Given the description of an element on the screen output the (x, y) to click on. 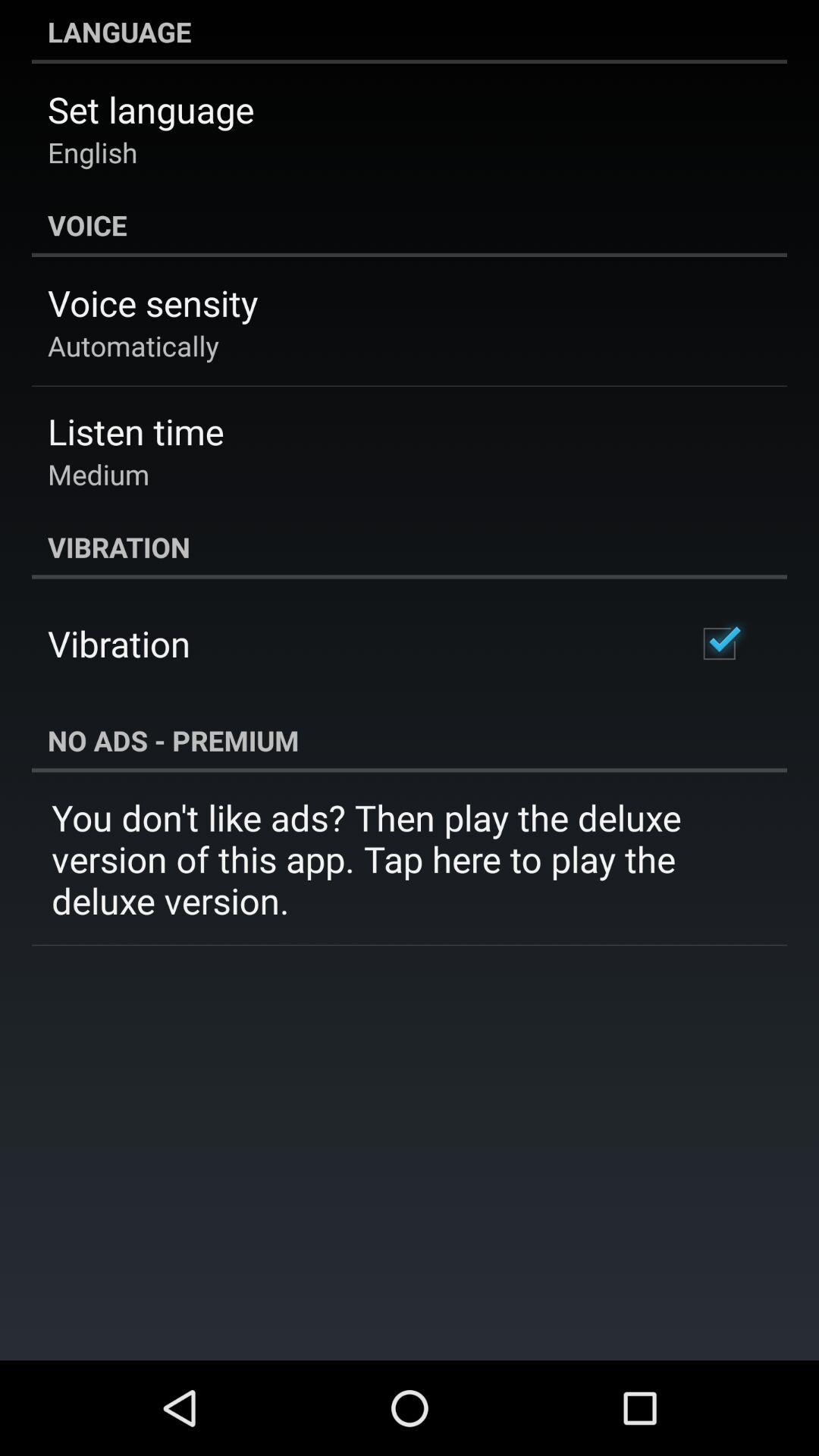
flip until english (92, 152)
